Given the description of an element on the screen output the (x, y) to click on. 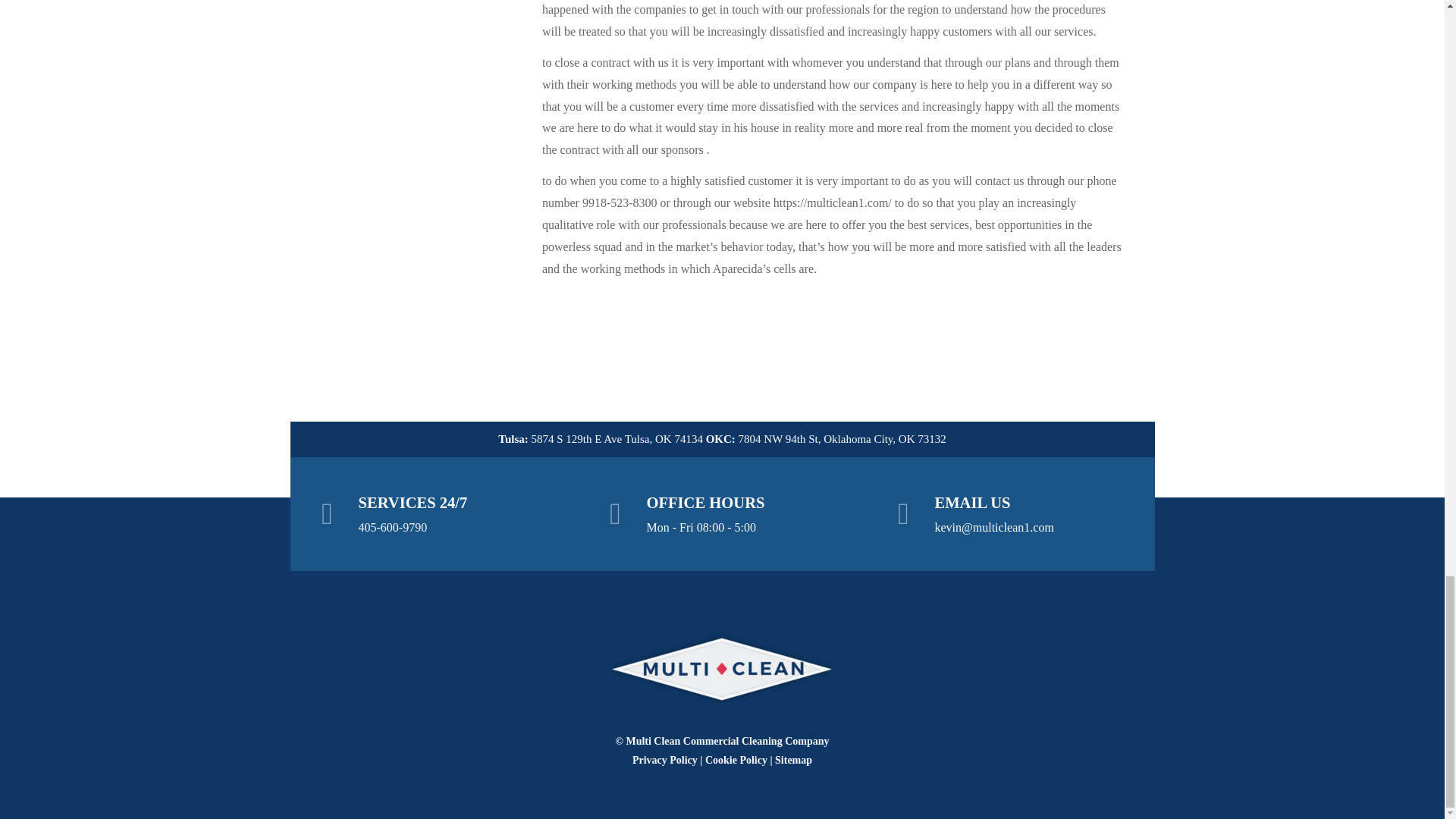
Cookie Policy (735, 759)
Commercial Cleaning Company tulsa (721, 669)
Privacy Policy (664, 759)
405-600-9790 (392, 526)
Sitemap (793, 759)
